Given the description of an element on the screen output the (x, y) to click on. 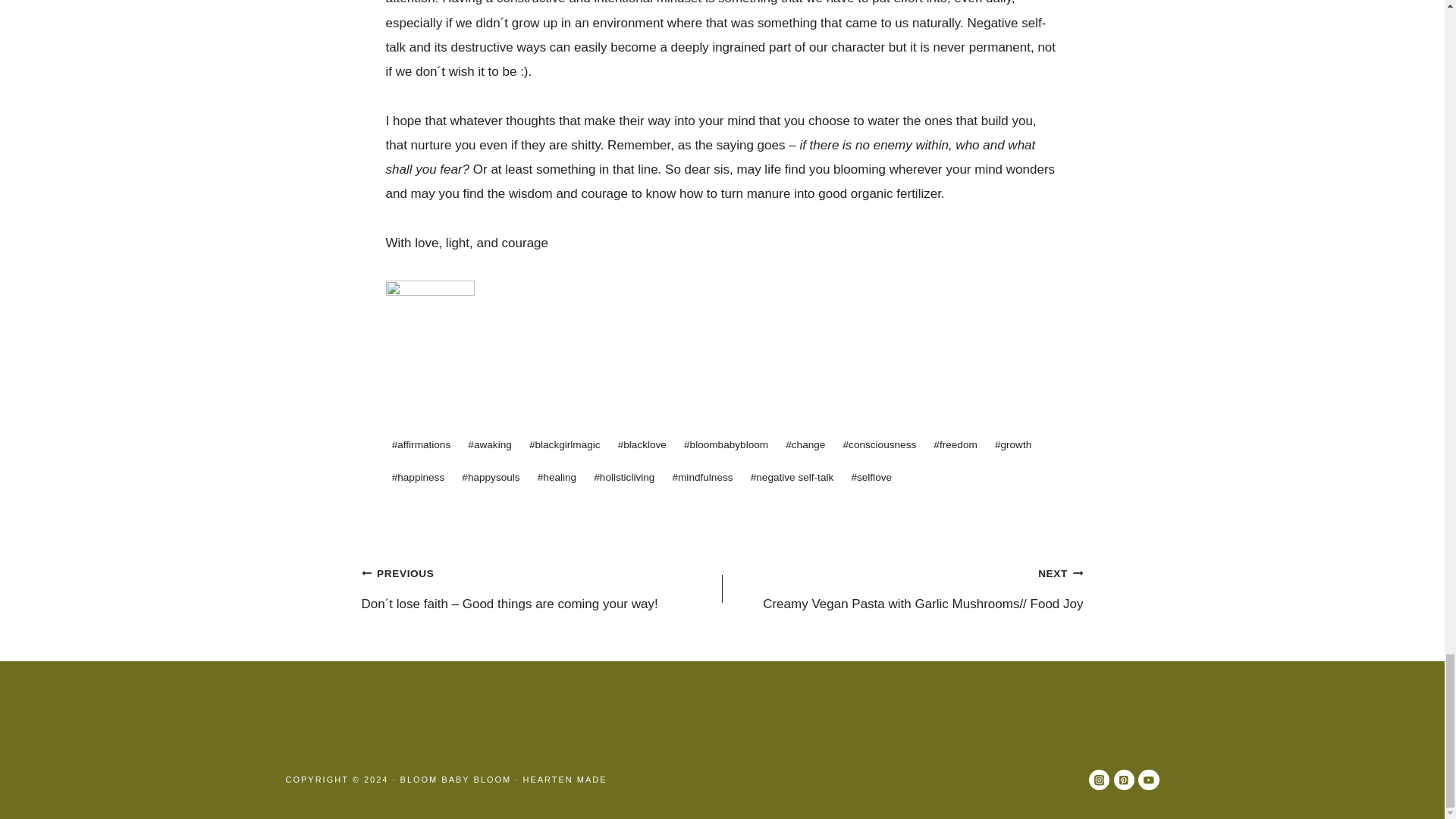
growth (1013, 444)
freedom (955, 444)
negative self-talk (792, 478)
affirmations (421, 444)
awaking (489, 444)
selflove (871, 478)
happiness (417, 478)
consciousness (878, 444)
change (804, 444)
mindfulness (701, 478)
